Given the description of an element on the screen output the (x, y) to click on. 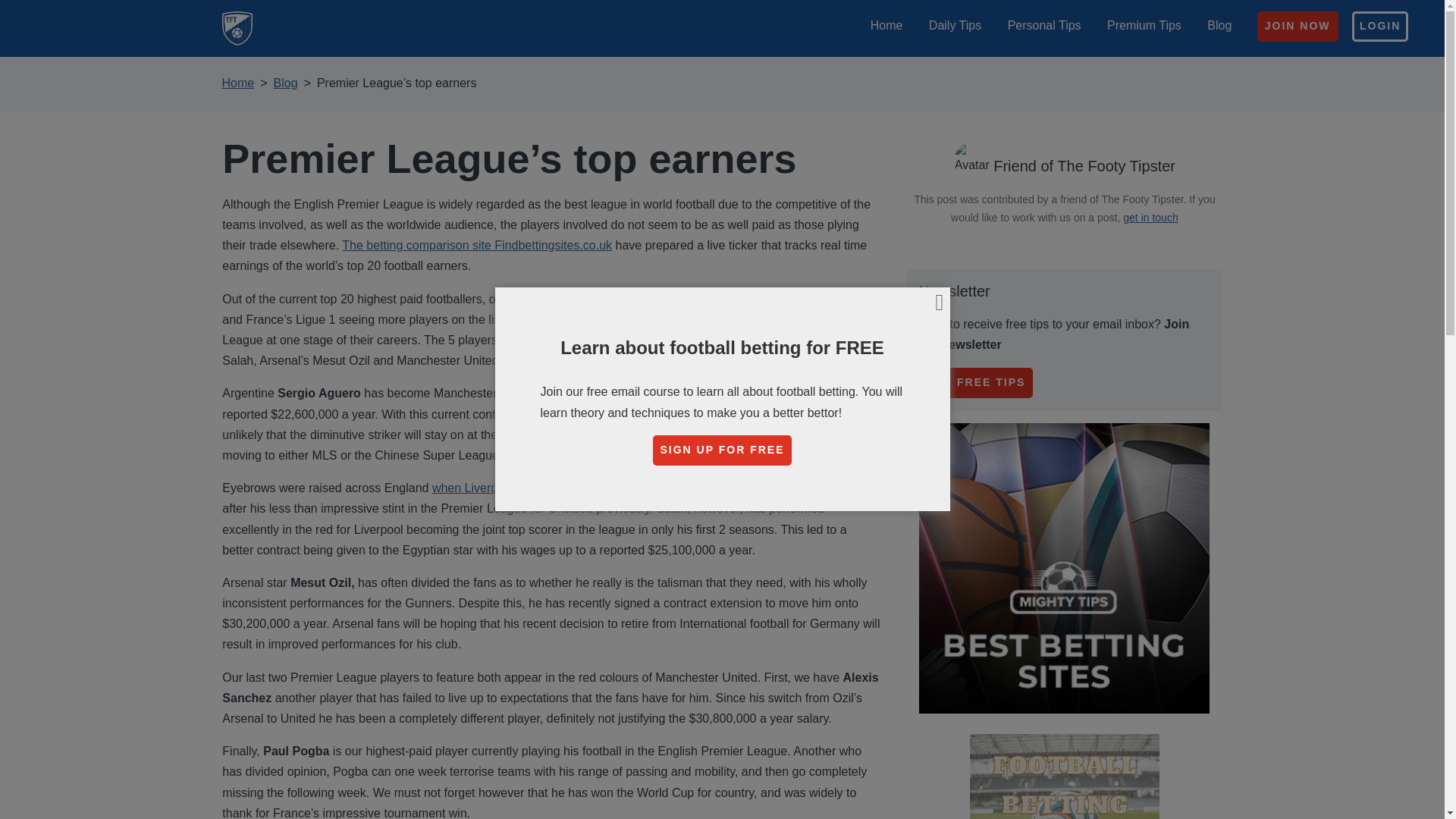
Personal Tips (1044, 25)
LOGIN (1379, 26)
Gravatar for Friend of The Footy Tipster (971, 160)
Daily Tips (954, 25)
GET FREE TIPS (975, 382)
Blog (285, 82)
Blog (1219, 25)
Home (886, 25)
get in touch (1149, 217)
Home (237, 82)
JOIN NOW (1297, 26)
The betting comparison site Findbettingsites.co.uk (476, 245)
Premium Tips (1144, 25)
